Given the description of an element on the screen output the (x, y) to click on. 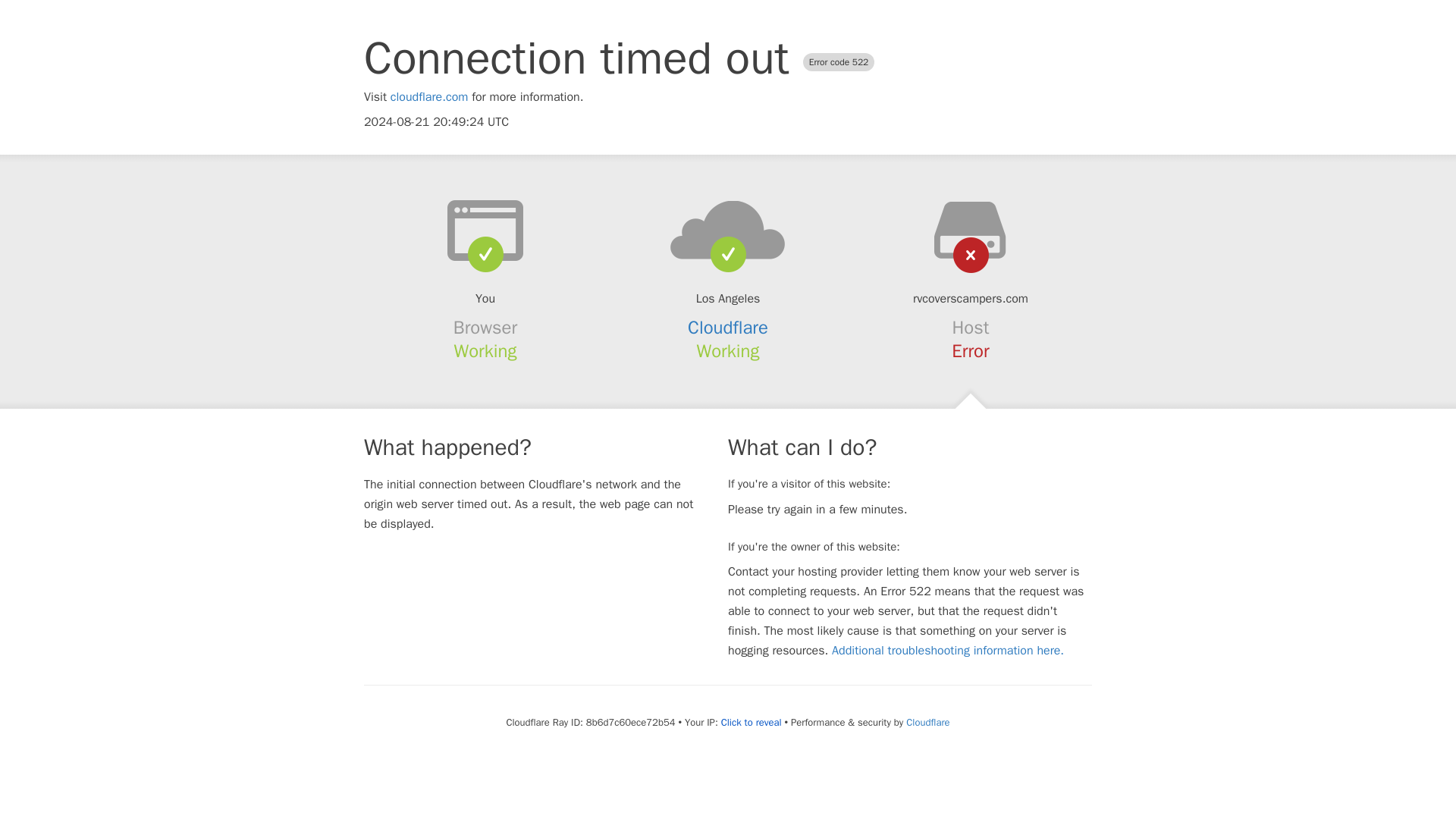
Click to reveal (750, 722)
Cloudflare (927, 721)
Cloudflare (727, 327)
Additional troubleshooting information here. (947, 650)
cloudflare.com (429, 96)
